Given the description of an element on the screen output the (x, y) to click on. 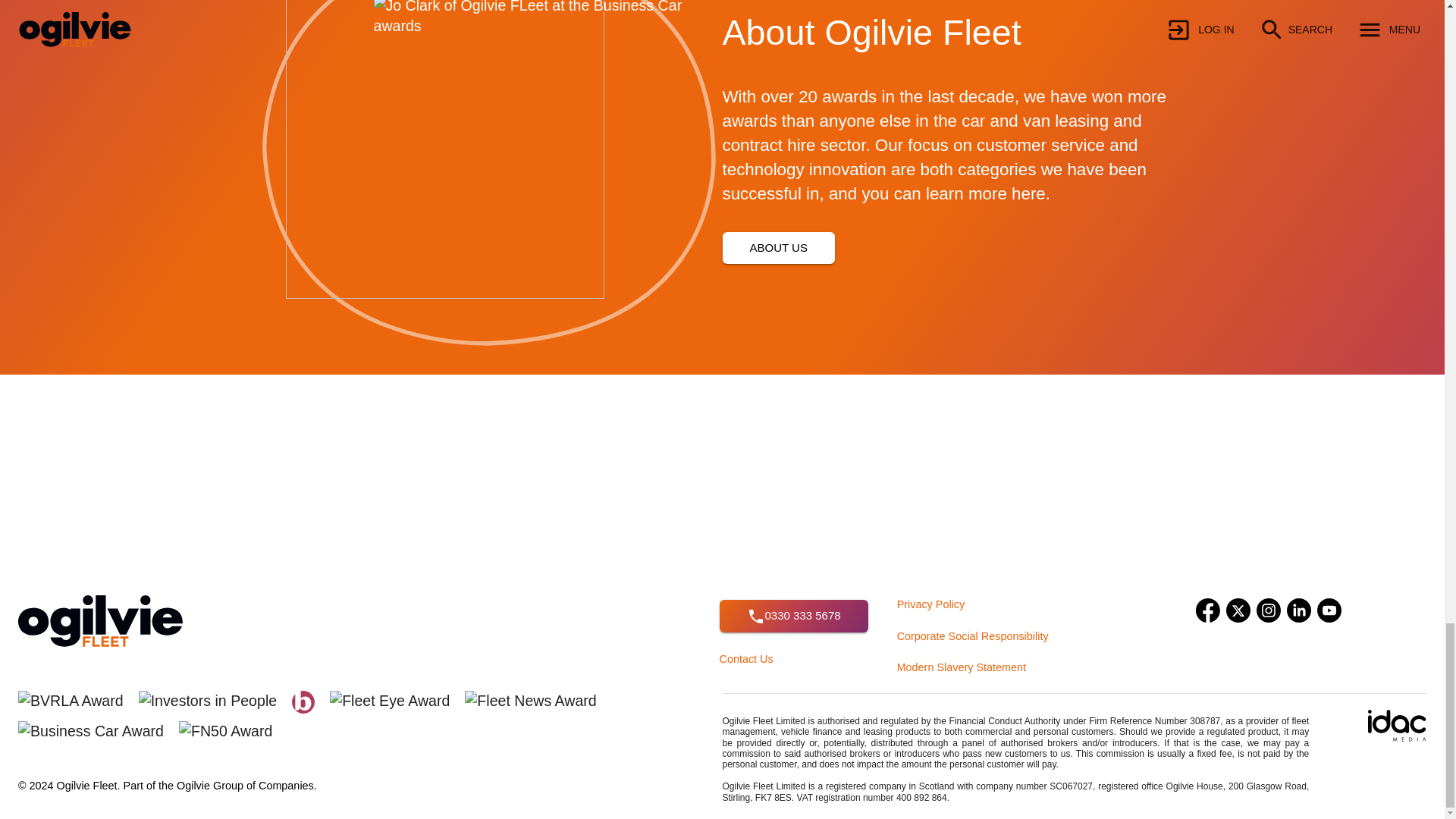
FN50 Award (232, 728)
Best Companies Award (311, 698)
Fleet Eye Award (397, 698)
Business Car Award (98, 728)
ABOUT US (778, 247)
Corporate Social Responsibility (972, 635)
Contact Us (746, 658)
Investors in People (215, 698)
Modern Slavery Statement (961, 666)
Fleet News Award (537, 698)
Ogilvie Group (209, 785)
0330 333 5678 (793, 615)
Privacy Policy (930, 604)
BVRLA Award (77, 698)
